Given the description of an element on the screen output the (x, y) to click on. 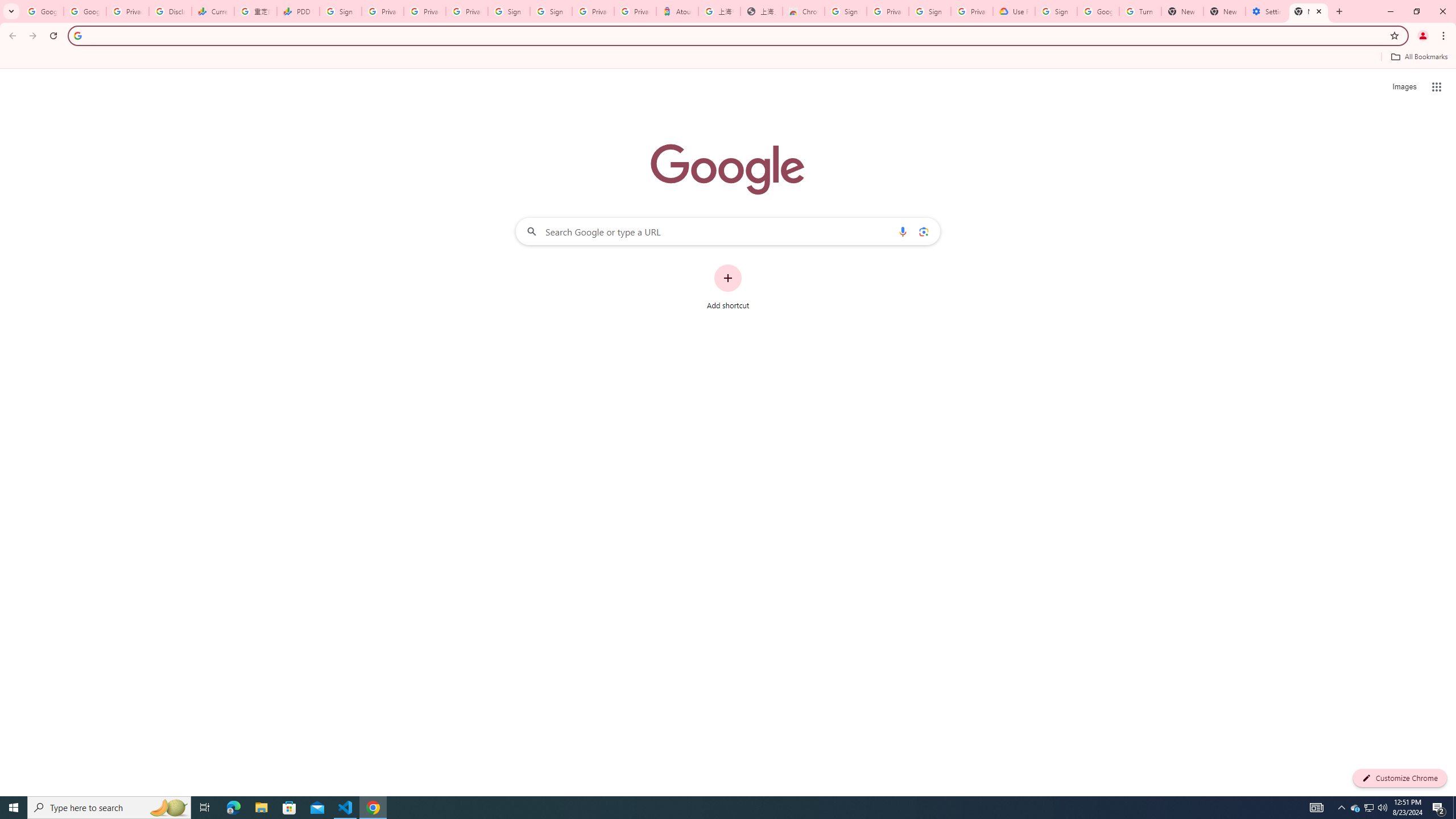
Add shortcut (727, 287)
Sign in - Google Accounts (550, 11)
Google Workspace Admin Community (42, 11)
Privacy Checkup (467, 11)
Search Google or type a URL (727, 230)
Chrome Web Store - Color themes by Chrome (803, 11)
Sign in - Google Accounts (340, 11)
New Tab (1308, 11)
